Given the description of an element on the screen output the (x, y) to click on. 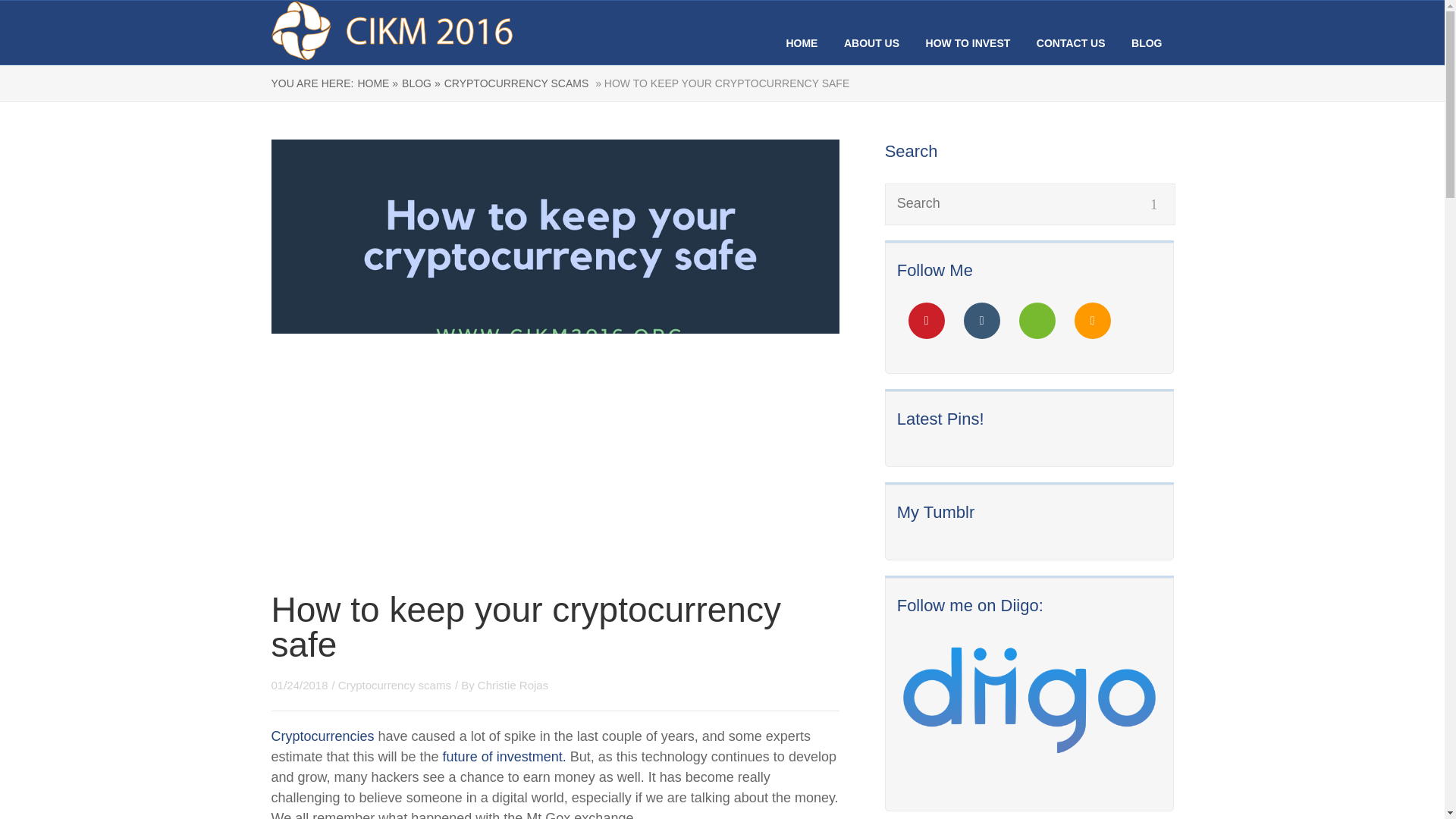
CRYPTOCURRENCY SCAMS (516, 82)
rss (1092, 320)
HOME (801, 42)
evernote (1037, 320)
RSS (1092, 320)
My Tumblr (935, 511)
CONTACT US (1070, 42)
tumblr (981, 320)
BLOG (1146, 42)
Pinterest (926, 320)
